Given the description of an element on the screen output the (x, y) to click on. 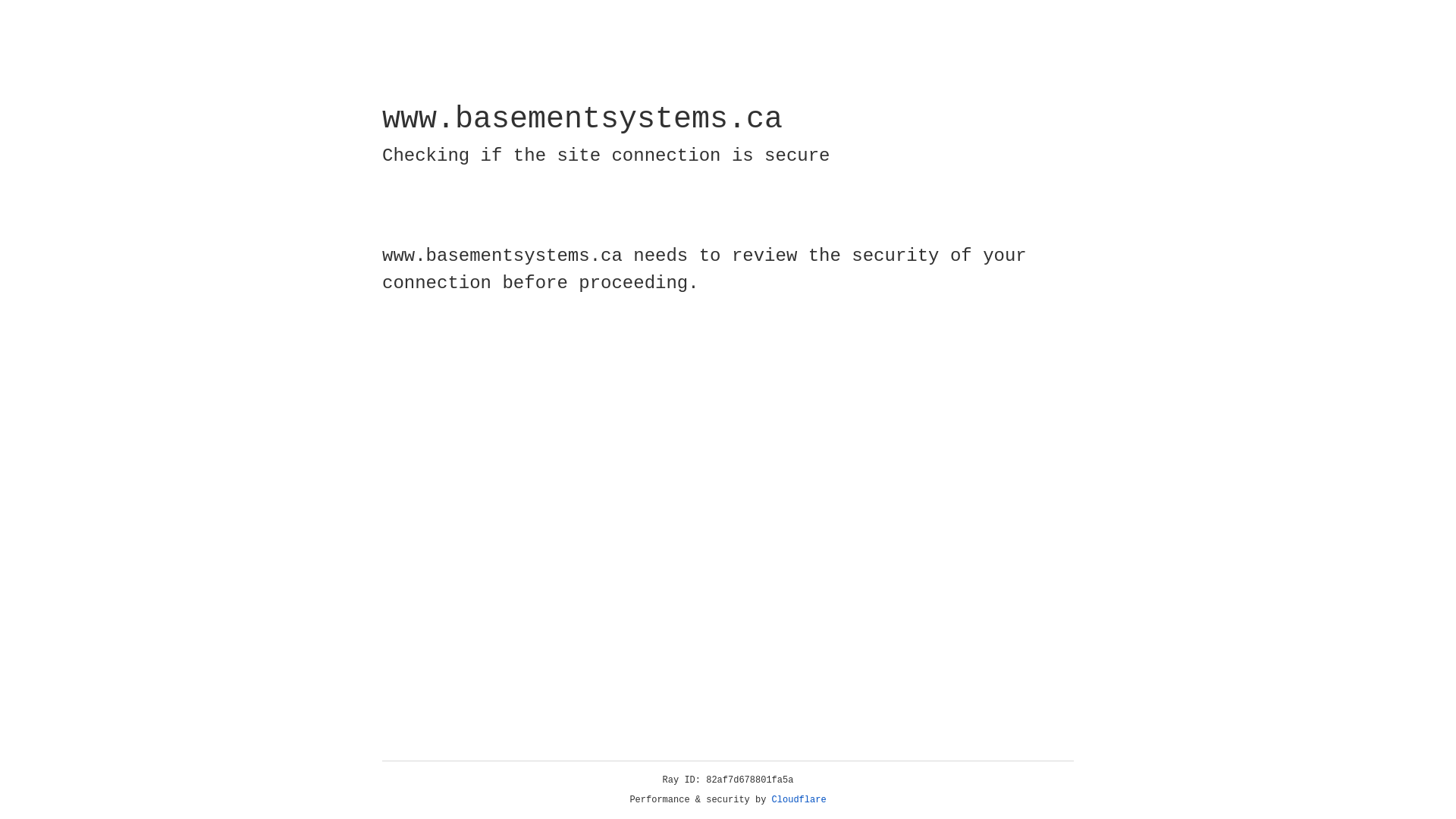
Cloudflare Element type: text (798, 799)
